Given the description of an element on the screen output the (x, y) to click on. 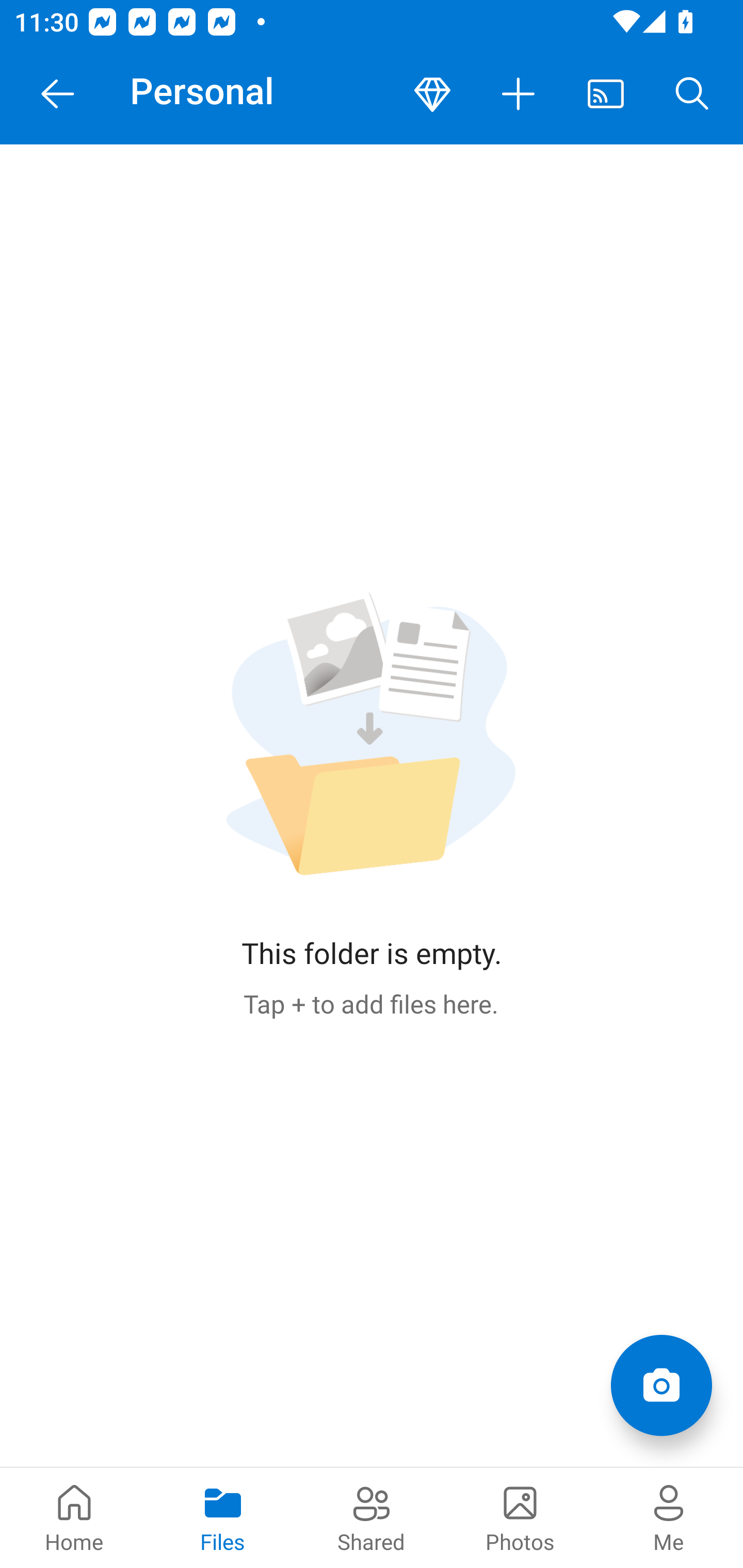
Navigate Up (57, 93)
Cast. Disconnected (605, 93)
Premium button (432, 93)
More actions button (518, 93)
Search button (692, 93)
Add items Scan (660, 1385)
Home pivot Home (74, 1517)
Shared pivot Shared (371, 1517)
Photos pivot Photos (519, 1517)
Me pivot Me (668, 1517)
